Given the description of an element on the screen output the (x, y) to click on. 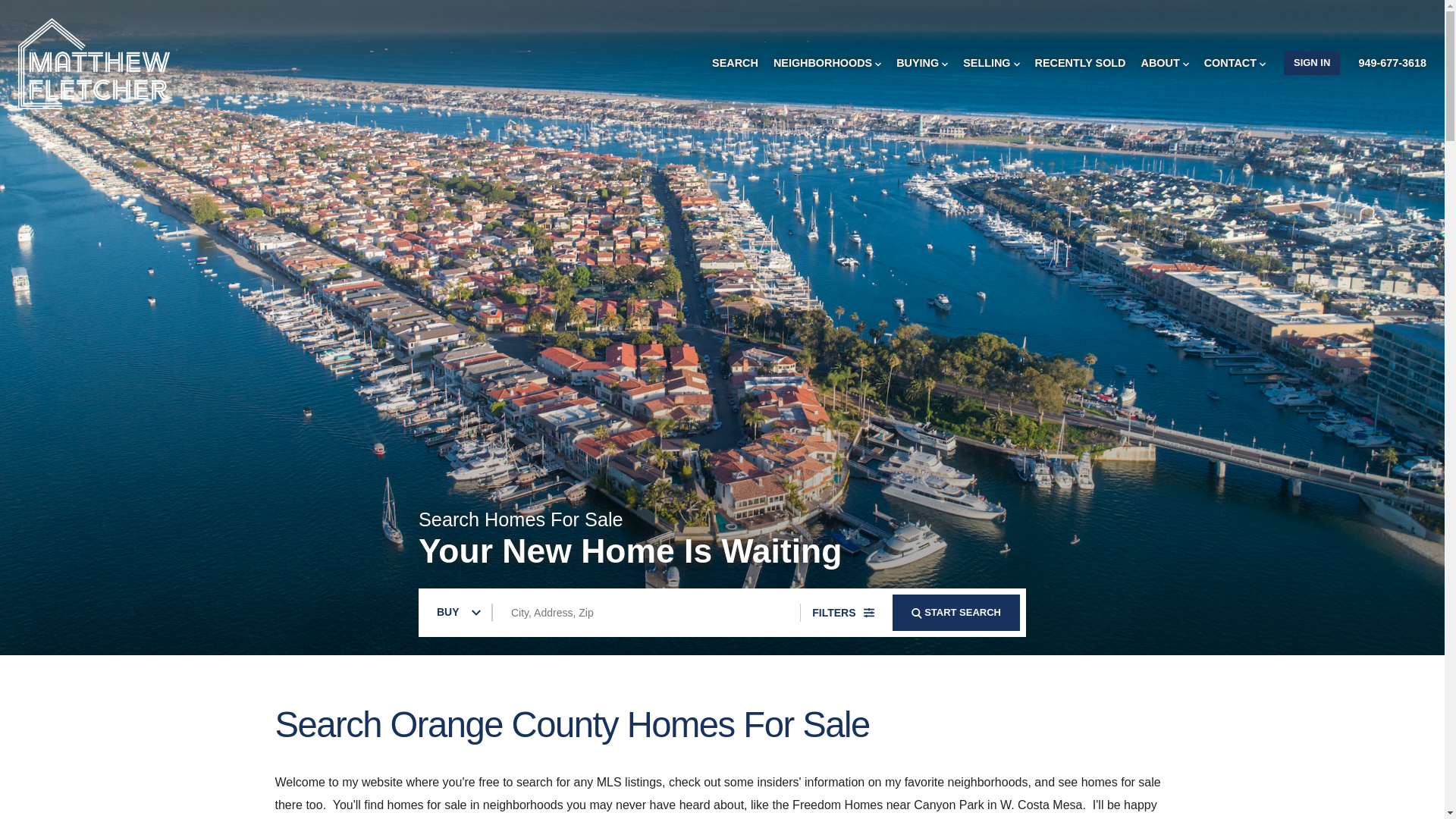
NEIGHBORHOODS DROPDOWN ARROW (826, 62)
RECENTLY SOLD (1080, 62)
SEARCH (916, 613)
SELLING DROPDOWN ARROW (990, 62)
SEARCH (734, 62)
DROPDOWN ARROW (1262, 64)
DROPDOWN ARROW (877, 64)
DROPDOWN ARROW (1016, 64)
DROPDOWN ARROW (1185, 64)
DROPDOWN ARROW (944, 64)
BUYING DROPDOWN ARROW (921, 62)
ABOUT DROPDOWN ARROW (1165, 62)
CONTACT DROPDOWN ARROW (1234, 62)
